Given the description of an element on the screen output the (x, y) to click on. 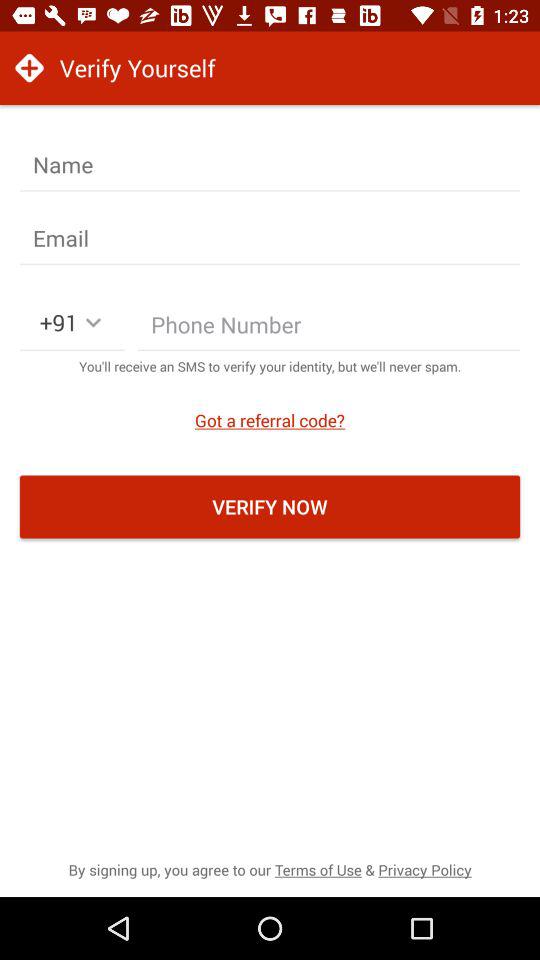
turn on verify now icon (269, 506)
